Given the description of an element on the screen output the (x, y) to click on. 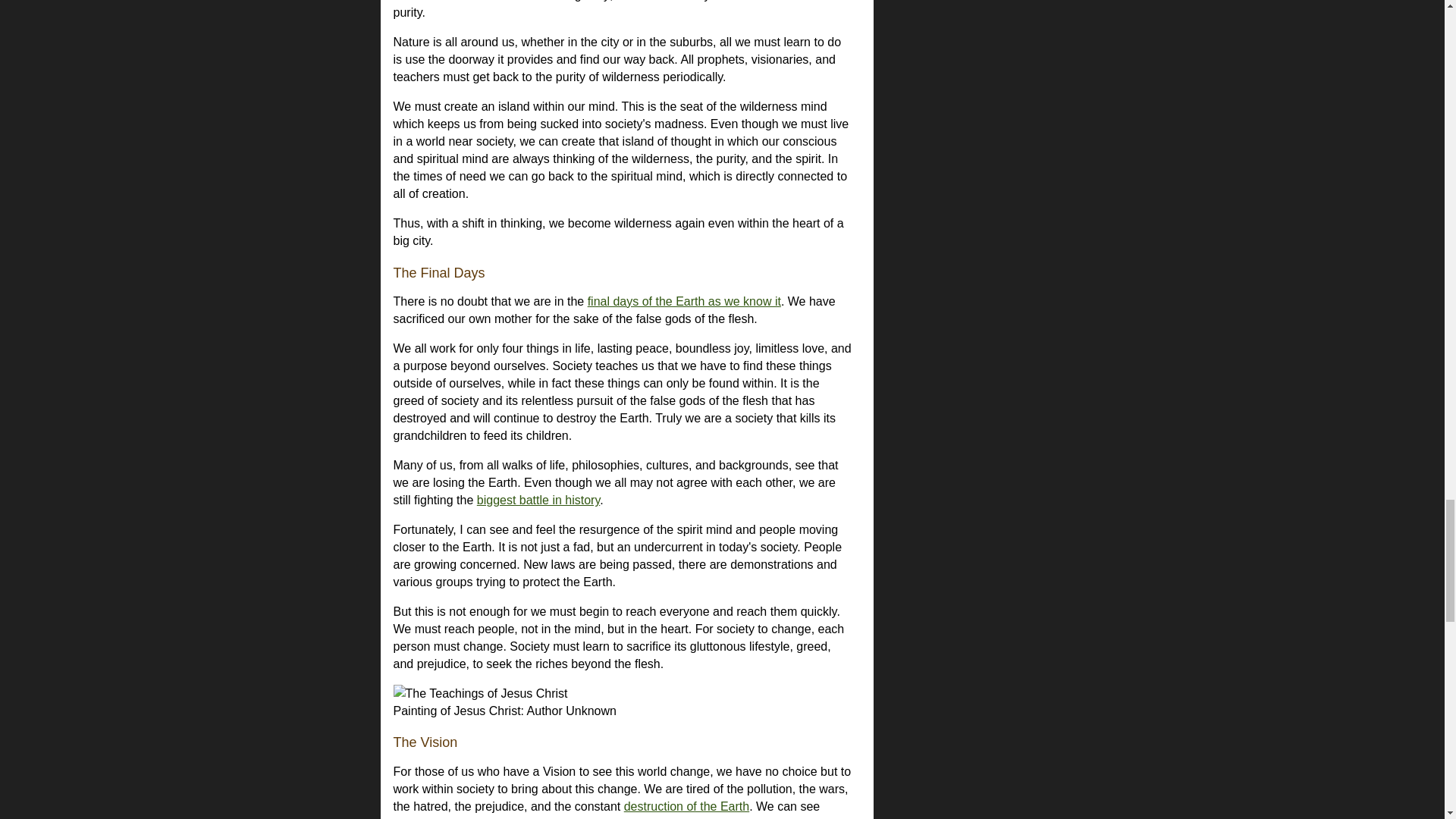
final days of the Earth as we know it (684, 300)
destruction of the Earth (686, 806)
The Teachings of Jesus Christ (480, 692)
biggest battle in history (538, 499)
